Given the description of an element on the screen output the (x, y) to click on. 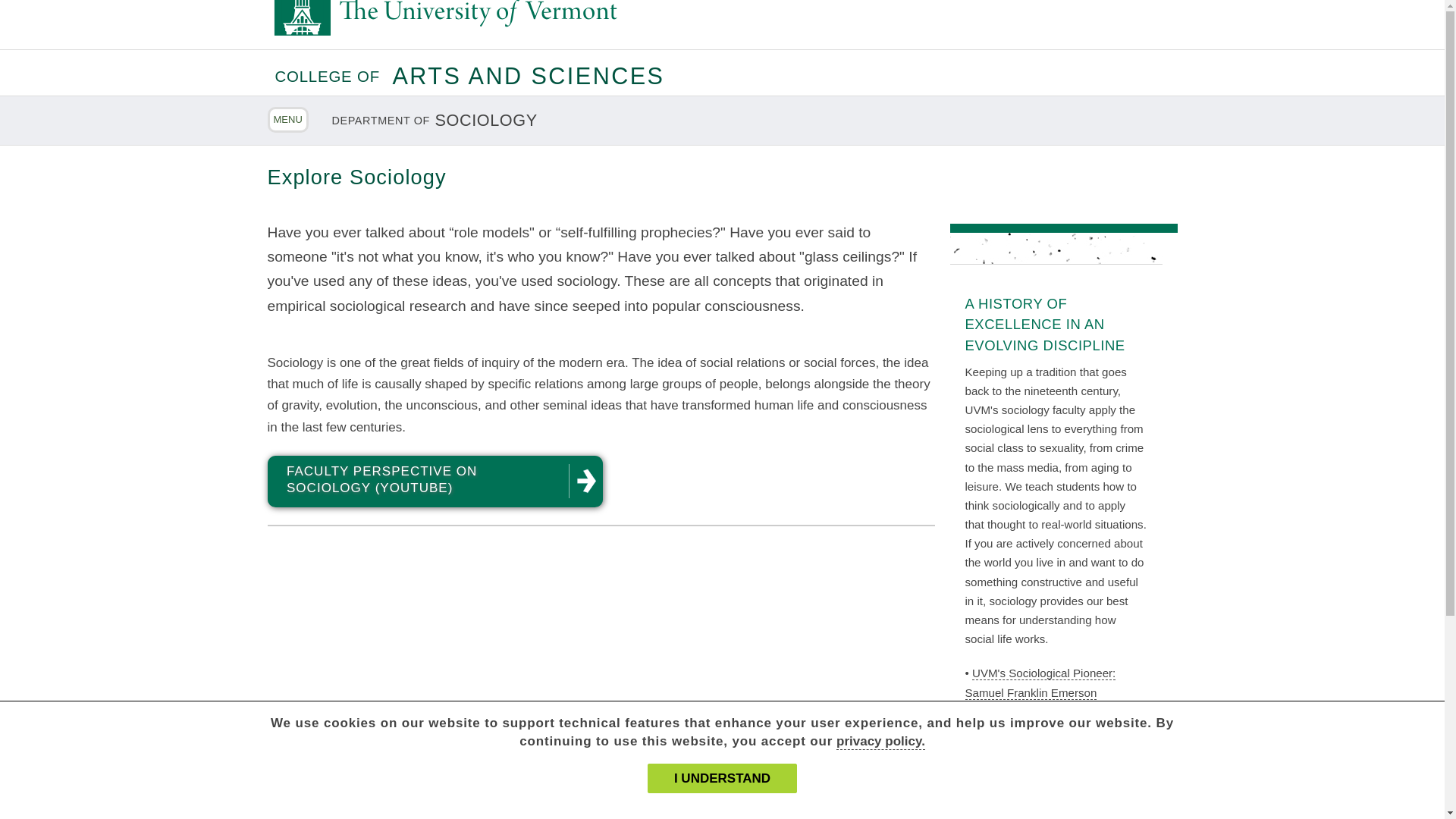
Home (494, 19)
